Given the description of an element on the screen output the (x, y) to click on. 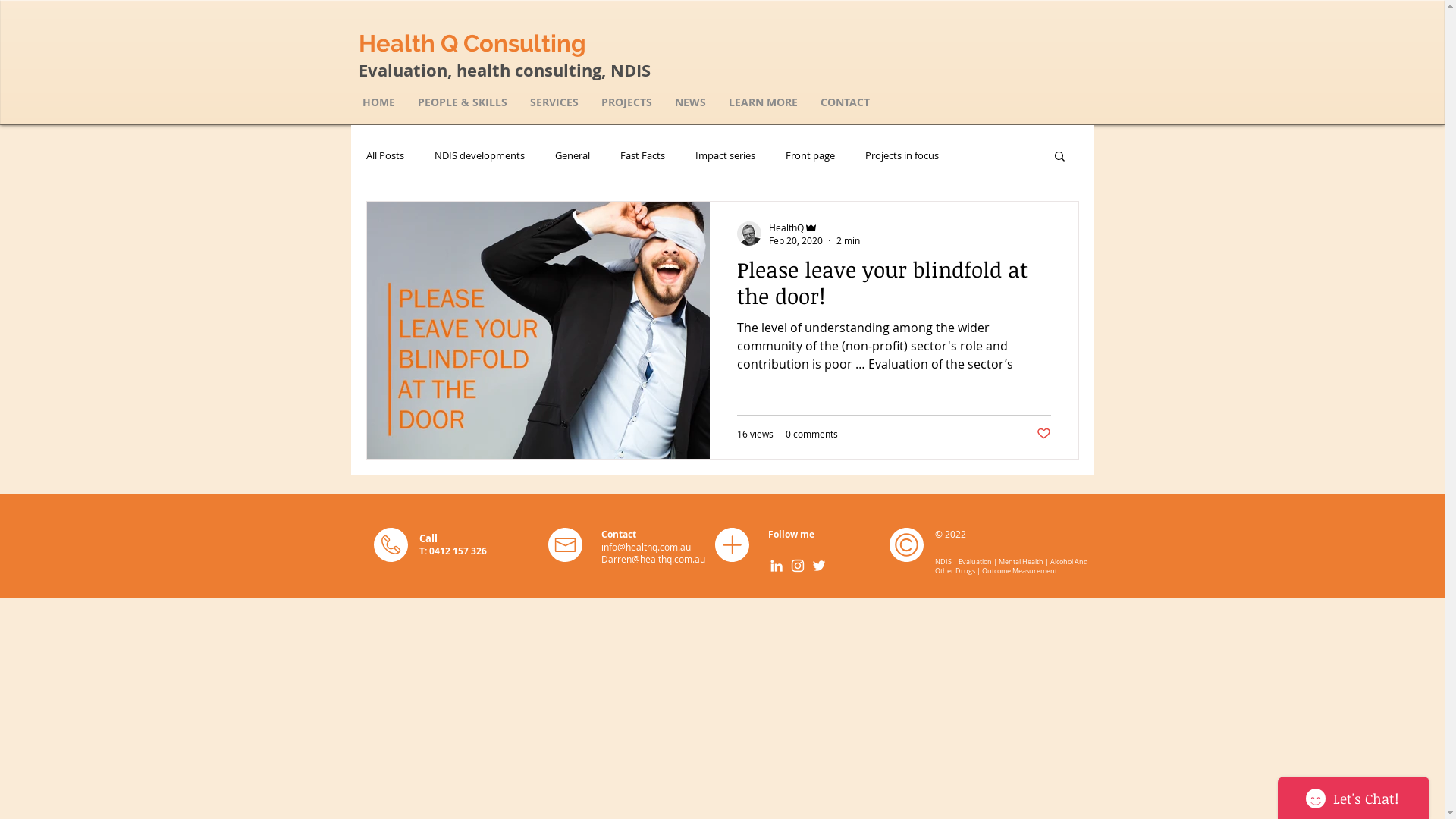
Front page Element type: text (809, 155)
PROJECTS Element type: text (626, 101)
PEOPLE & SKILLS Element type: text (462, 101)
HOME Element type: text (377, 101)
Fast Facts Element type: text (642, 155)
NEWS Element type: text (689, 101)
Outcome Measurement Element type: text (1018, 569)
Health Q Consulting Element type: text (471, 42)
Darren@healthq.com.au Element type: text (652, 558)
info@healthq.com.au Element type: text (645, 545)
Mental Health Element type: text (1019, 560)
NDIS developments Element type: text (478, 155)
0 comments Element type: text (811, 433)
Please leave your blindfold at the door! Element type: text (894, 286)
Evaluation, health consulting, NDIS Element type: text (503, 69)
Post not marked as liked Element type: text (1042, 433)
NDIS Element type: text (943, 560)
Projects in focus Element type: text (901, 155)
All Posts Element type: text (384, 155)
CONTACT Element type: text (844, 101)
Impact series Element type: text (724, 155)
General Element type: text (572, 155)
Alcohol And Other Drugs Element type: text (1010, 565)
SERVICES Element type: text (553, 101)
